Given the description of an element on the screen output the (x, y) to click on. 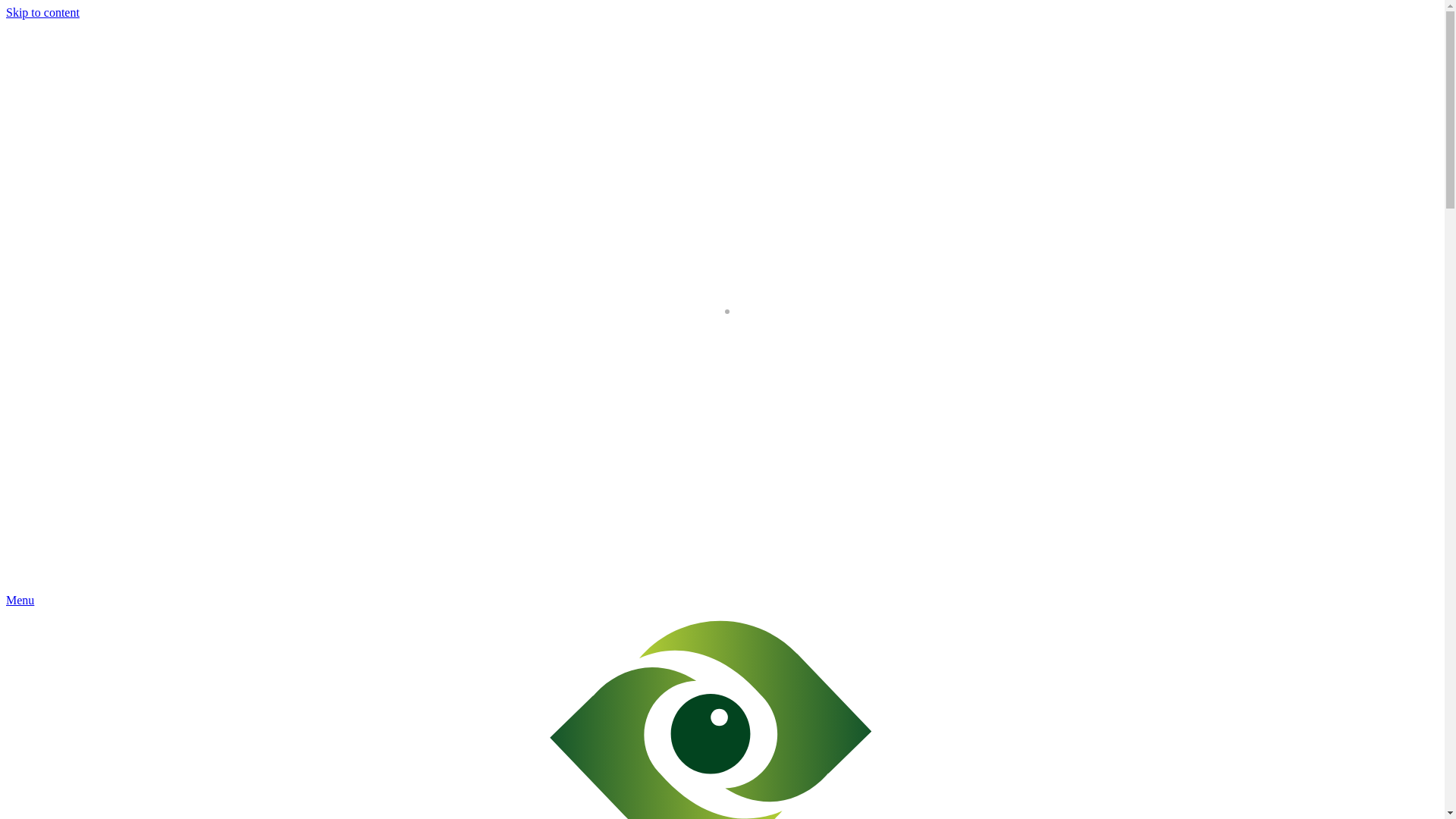
Skip to content Element type: text (42, 12)
Menu Element type: text (20, 599)
